Given the description of an element on the screen output the (x, y) to click on. 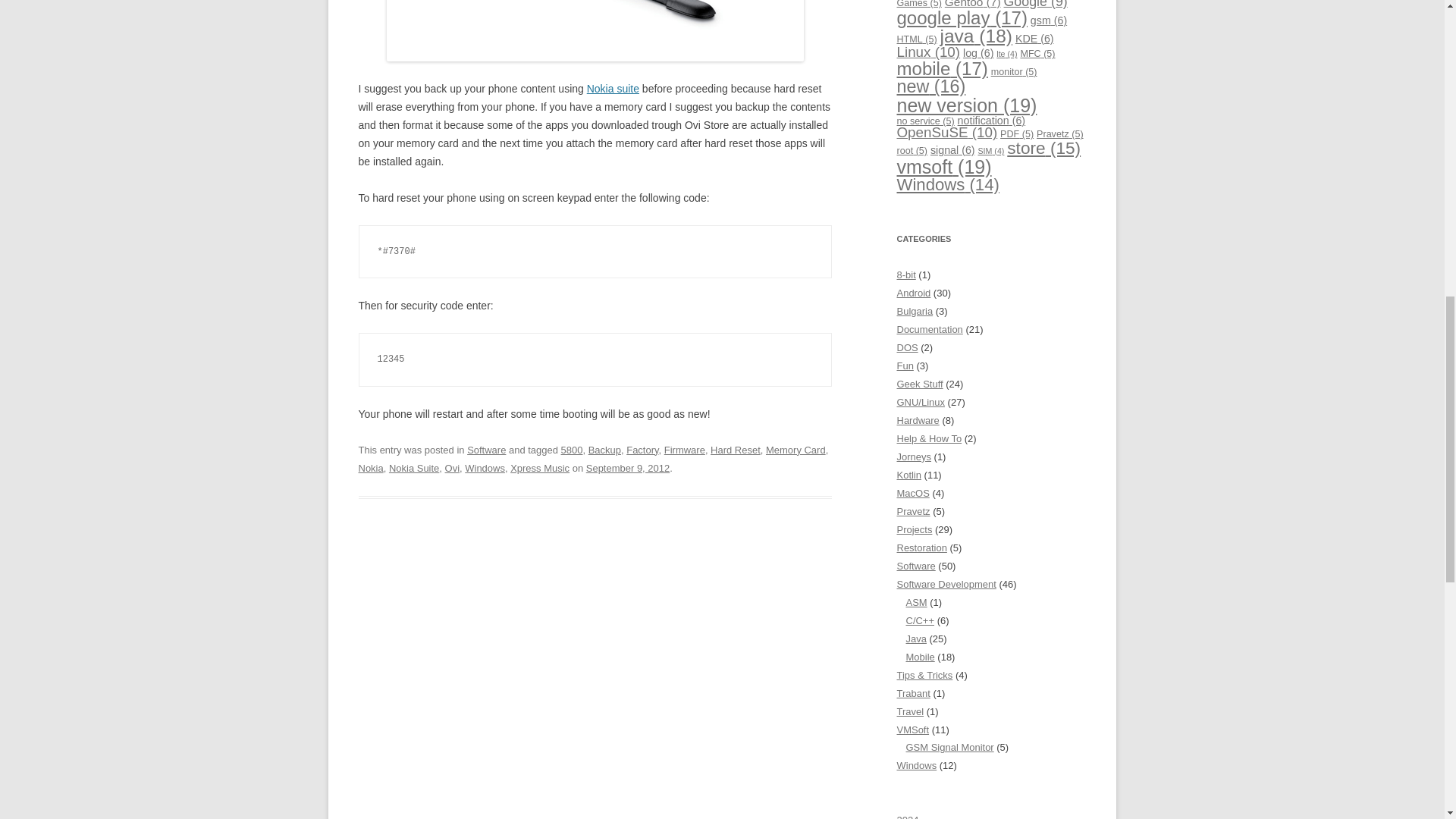
Software (486, 449)
Nokia Suite (413, 468)
Backup (604, 449)
Firmware (683, 449)
nokia-5800-xpress-music-1 (595, 30)
Nokia suite (612, 88)
5800 (571, 449)
Factory (642, 449)
Memory Card (795, 449)
Windows (484, 468)
Xpress Music (540, 468)
Hard Reset (735, 449)
10:44 (627, 468)
Ovi (452, 468)
September 9, 2012 (627, 468)
